Given the description of an element on the screen output the (x, y) to click on. 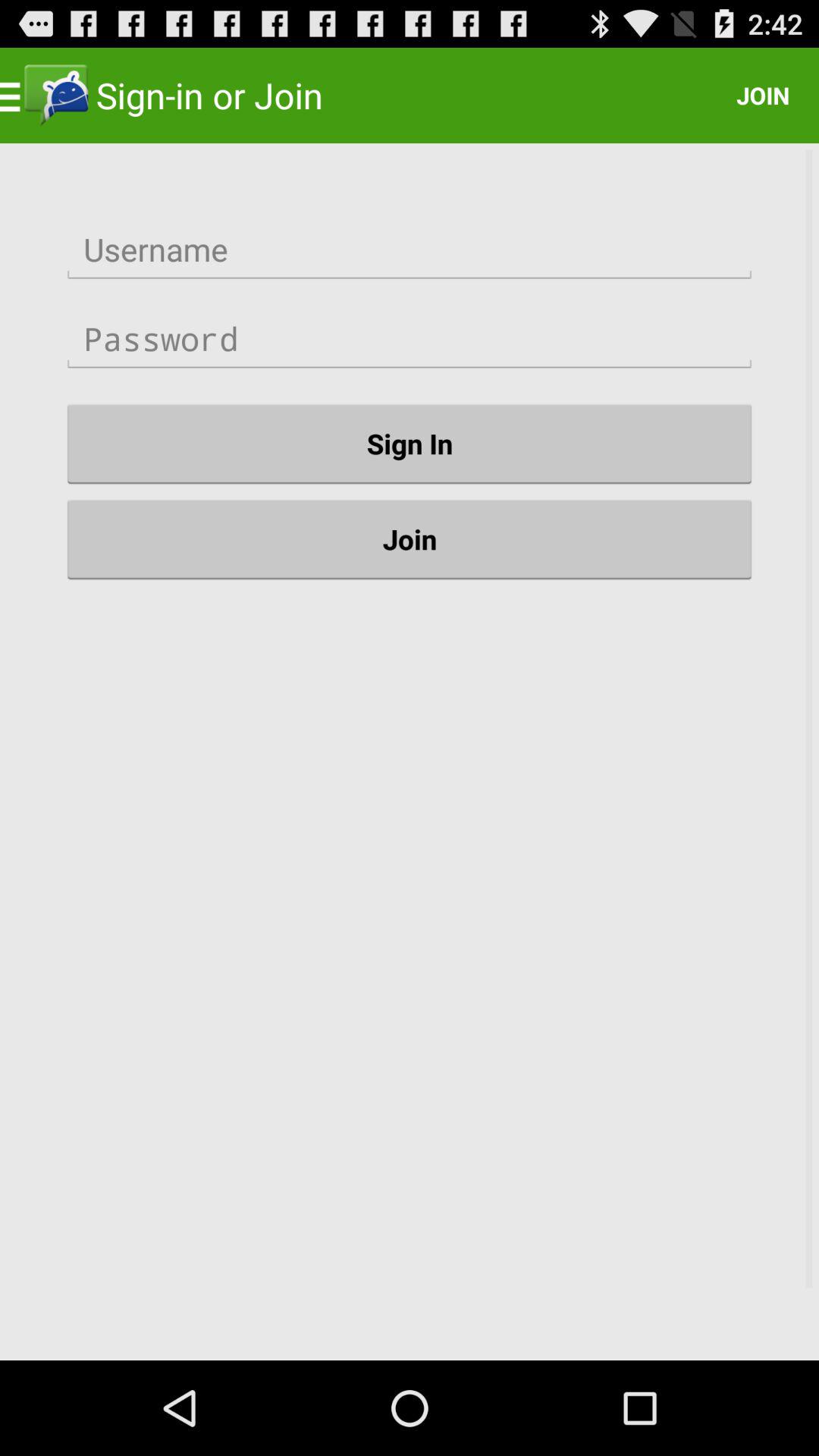
enter username (409, 249)
